Given the description of an element on the screen output the (x, y) to click on. 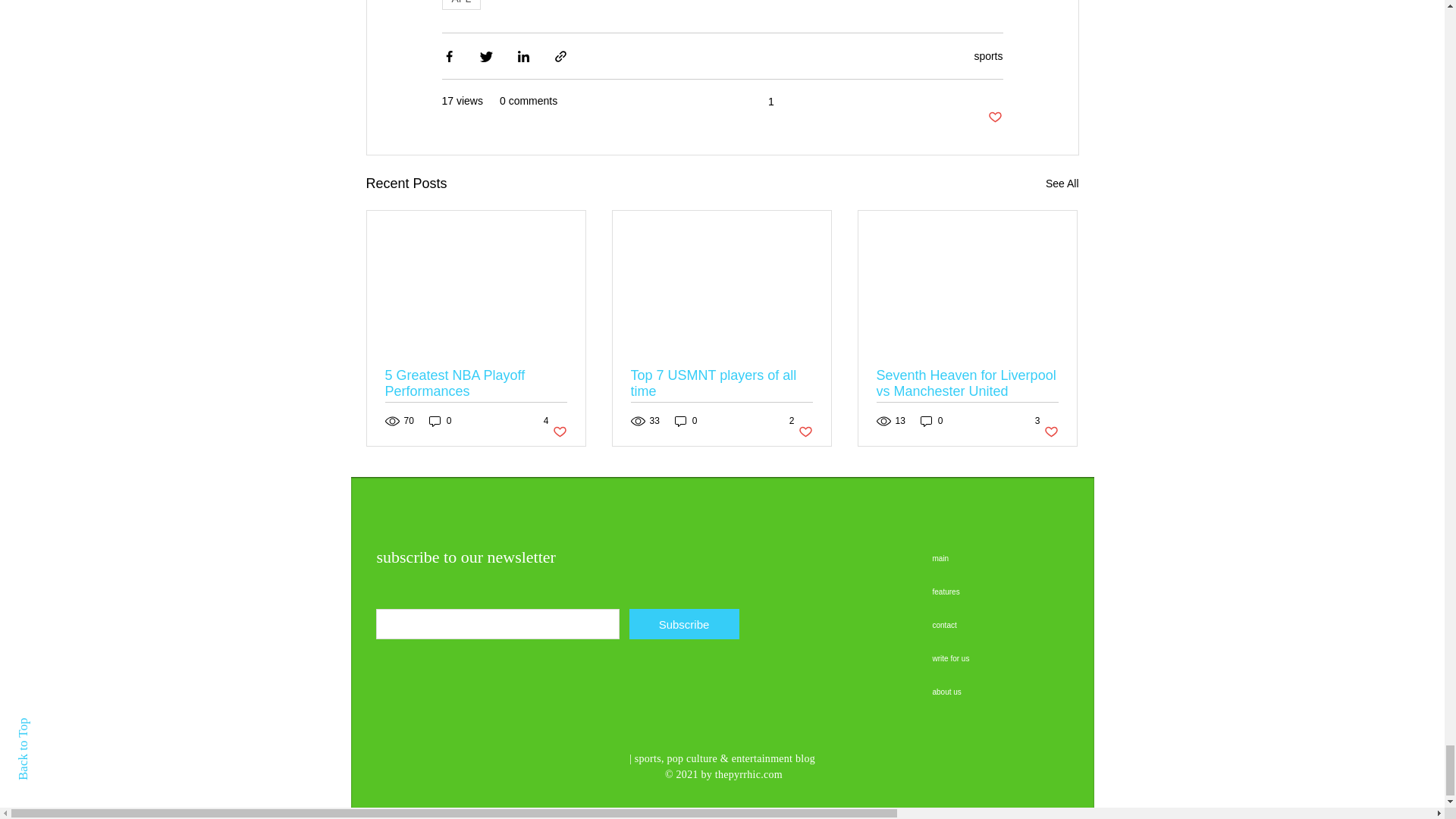
sports (772, 101)
AFL (988, 55)
